Given the description of an element on the screen output the (x, y) to click on. 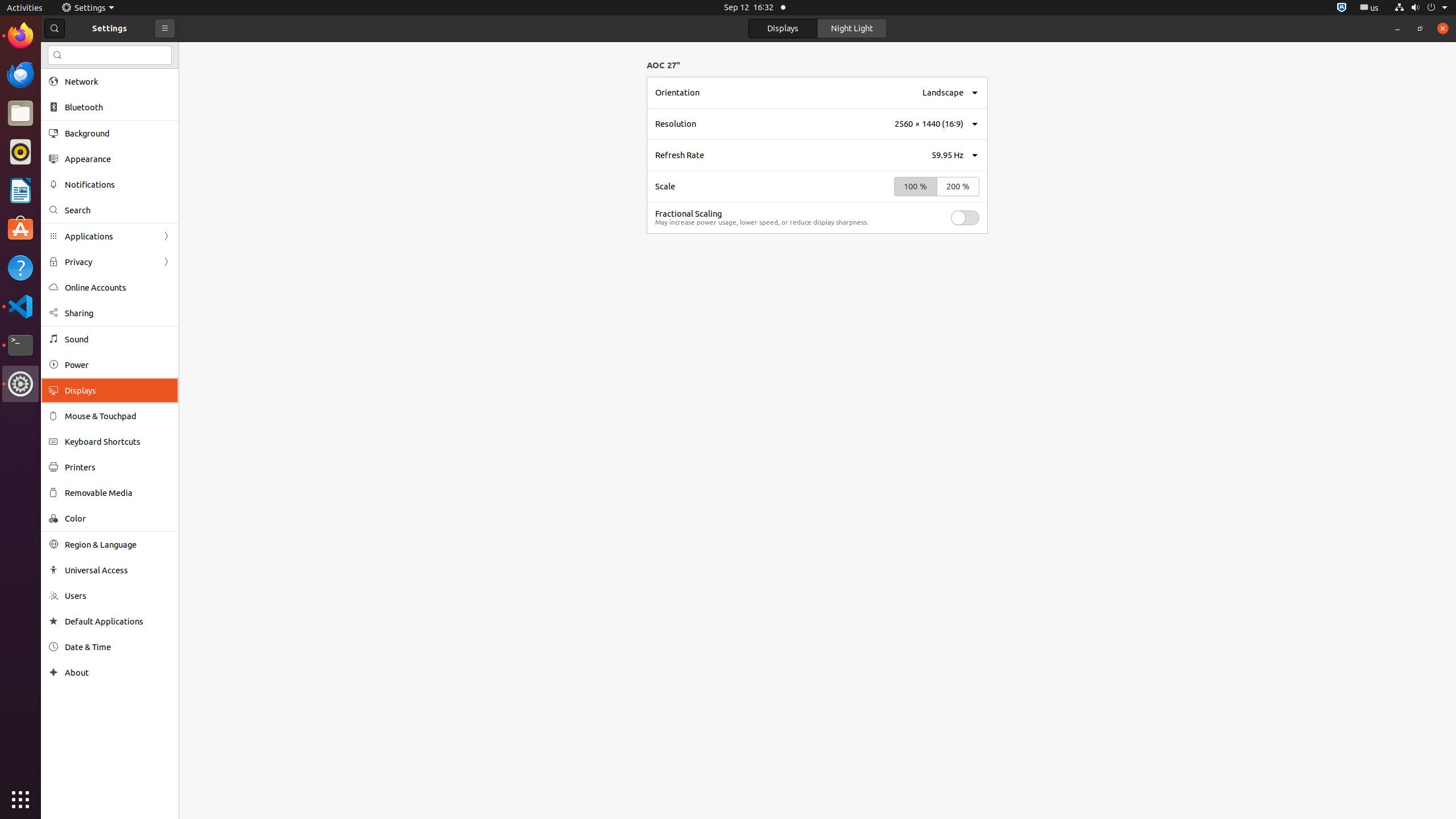
Close Element type: push-button (1442, 27)
Color Element type: label (117, 518)
Power Element type: label (117, 364)
Date & Time Element type: label (117, 646)
Restore Element type: push-button (1419, 27)
